Given the description of an element on the screen output the (x, y) to click on. 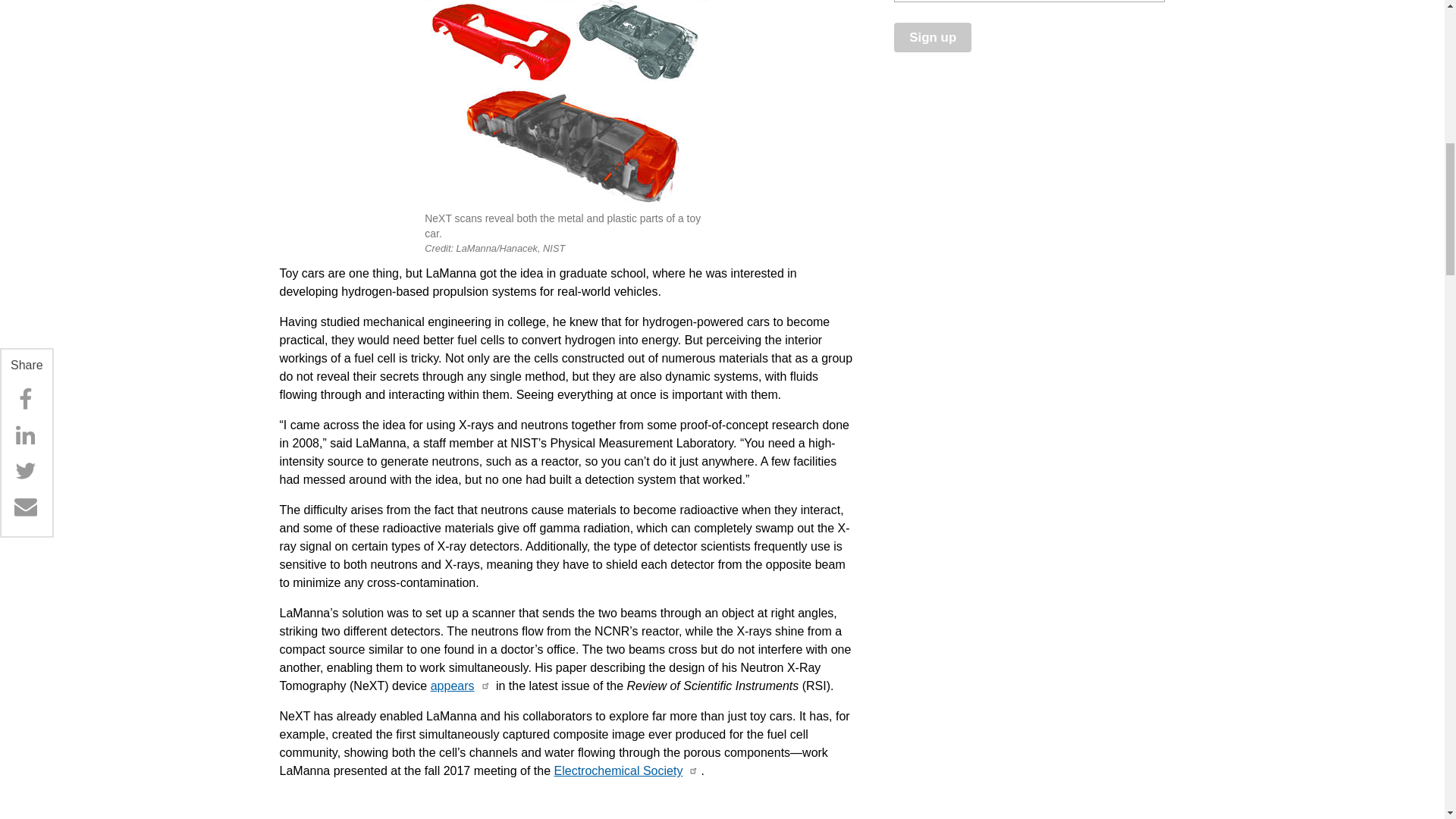
appears (452, 685)
Electrochemical Society (618, 770)
Sign up (932, 37)
Hot Wheels Car As Seen By Neutrons and X-rays  (568, 104)
